Given the description of an element on the screen output the (x, y) to click on. 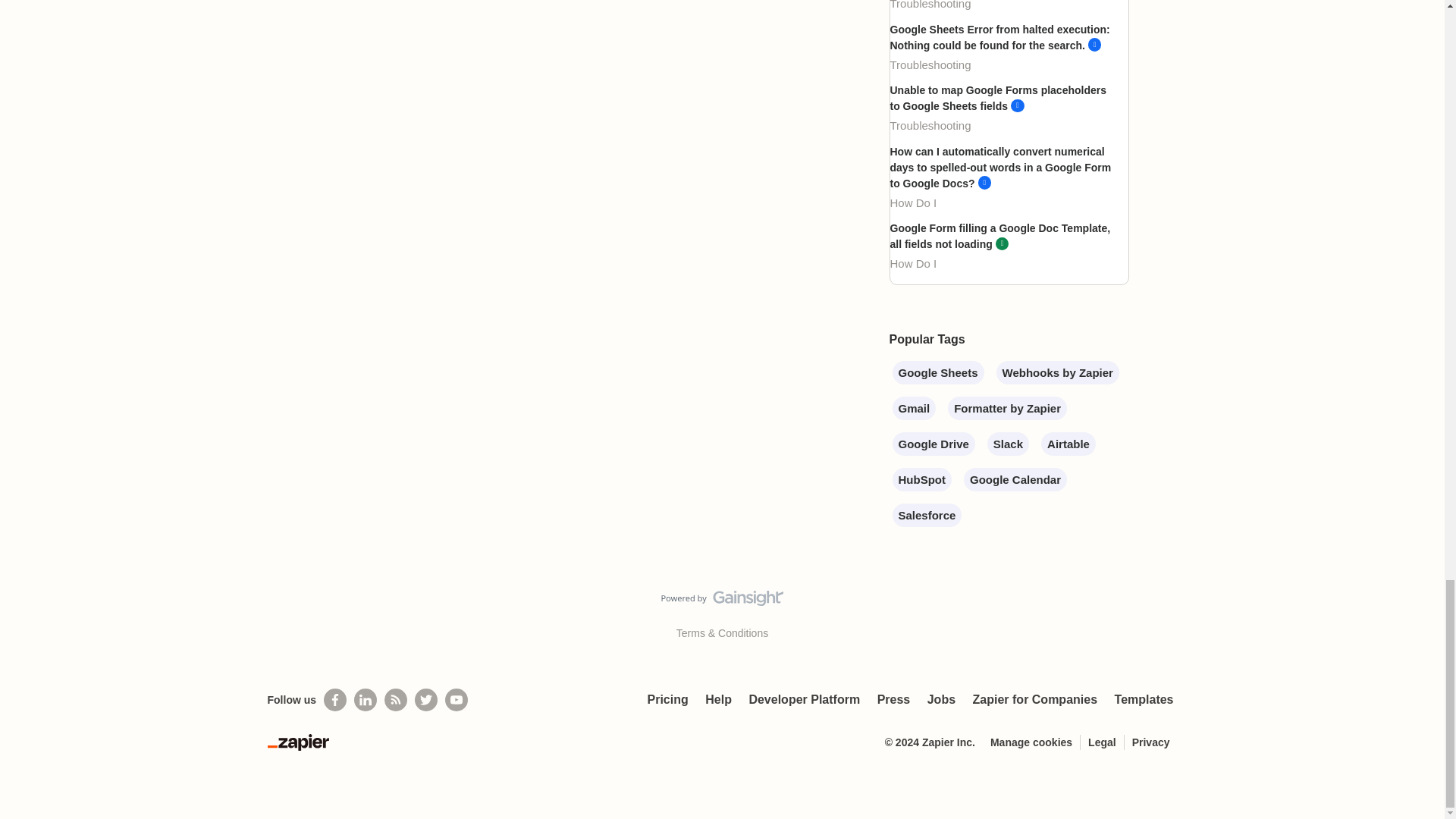
Subscribe to our blog (395, 699)
See helpful Zapier videos on Youtube (456, 699)
Visit Gainsight.com (722, 601)
Follow us on LinkedIn (365, 699)
Follow us on Facebook (334, 699)
